Given the description of an element on the screen output the (x, y) to click on. 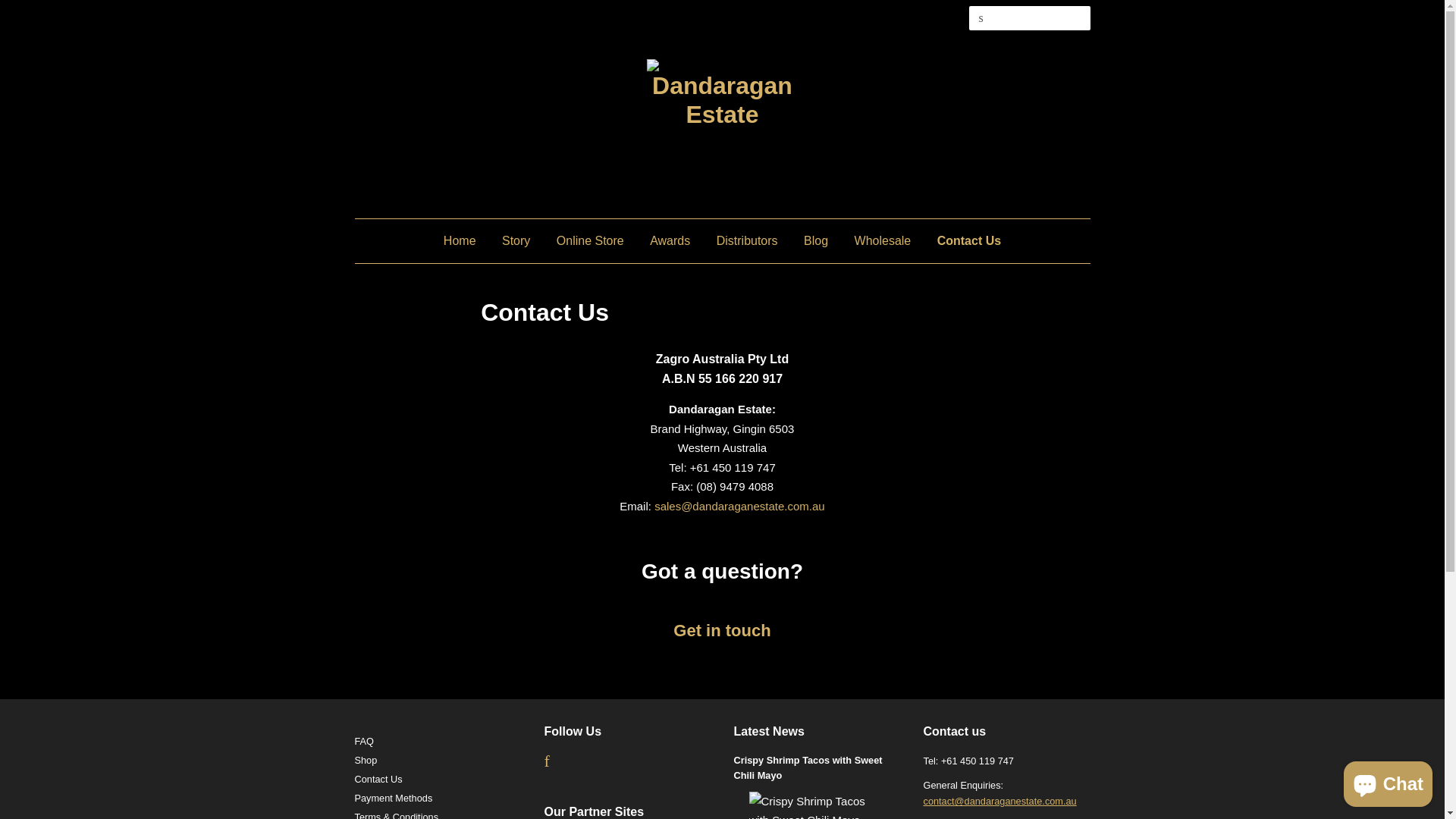
Distributors Element type: text (747, 240)
Contact Us Element type: text (378, 778)
Awards Element type: text (669, 240)
Wholesale Element type: text (882, 240)
FAQ Element type: text (364, 740)
Contact Us Element type: text (963, 240)
Payment Methods Element type: text (393, 797)
Facebook Element type: text (546, 762)
Shopify online store chat Element type: hover (1388, 780)
Crispy Shrimp Tacos with Sweet Chili Mayo Element type: text (808, 767)
contact@dandaraganestate.com.au Element type: text (999, 800)
Search Element type: text (981, 18)
Latest News Element type: text (769, 730)
Shop Element type: text (365, 759)
Blog Element type: text (815, 240)
Story Element type: text (515, 240)
Online Store Element type: text (590, 240)
Home Element type: text (465, 240)
